Given the description of an element on the screen output the (x, y) to click on. 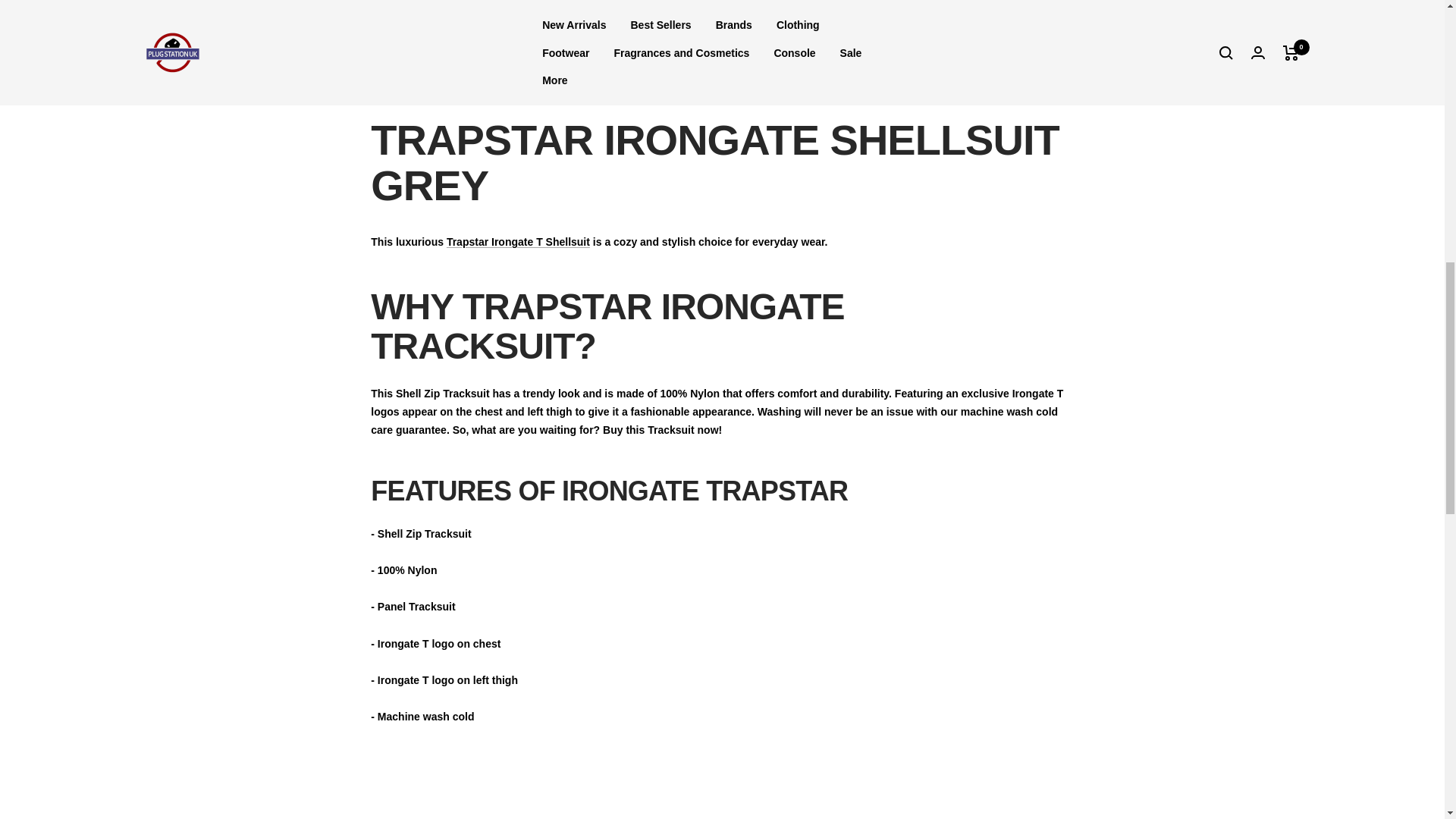
Trapstar Irongate T Shellsuit (517, 241)
